Given the description of an element on the screen output the (x, y) to click on. 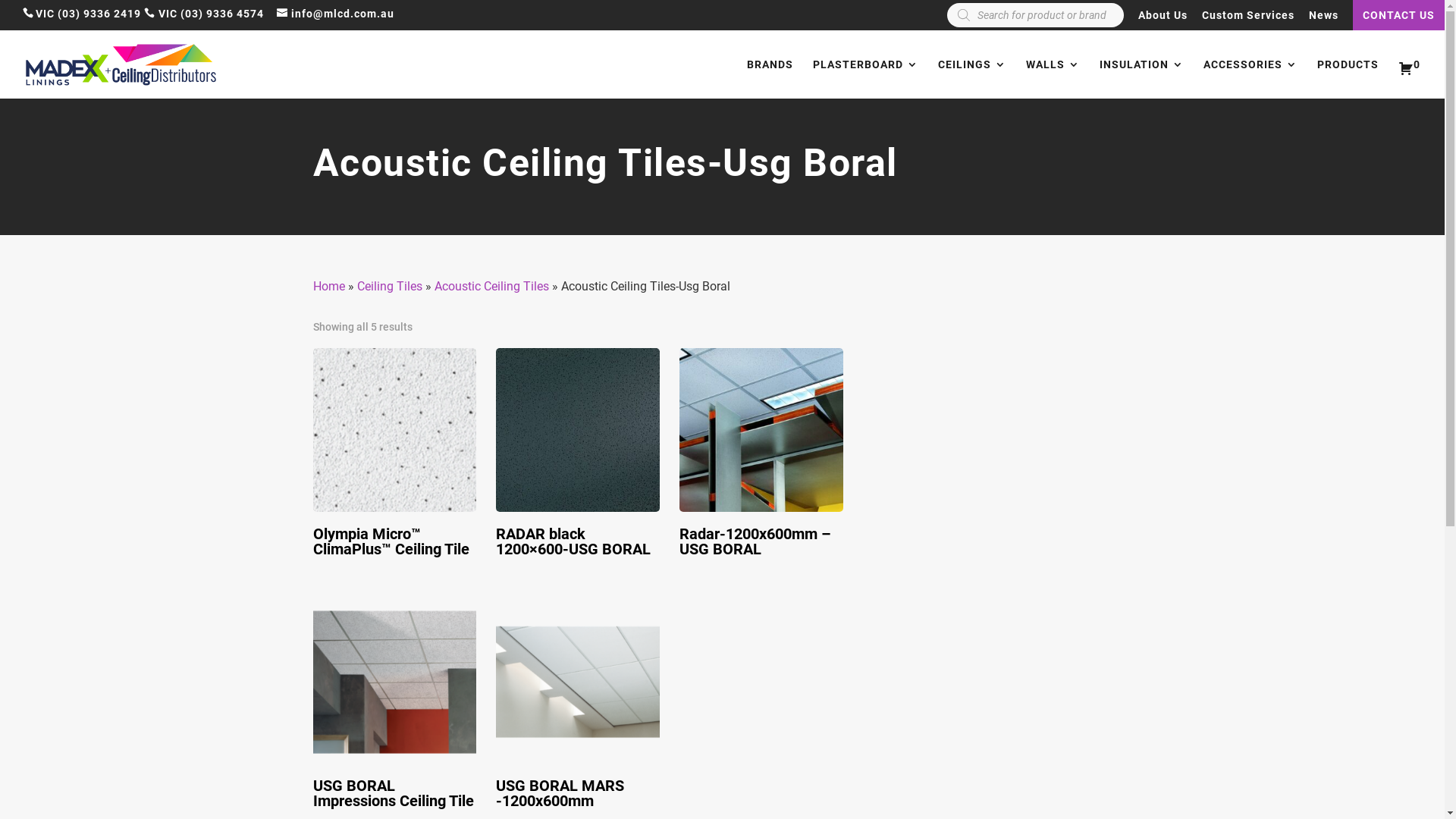
info@mlcd.com.au Element type: text (335, 13)
VIC (03) 9336 2419 Element type: text (88, 13)
WALLS Element type: text (1052, 78)
PRODUCTS Element type: text (1347, 78)
Acoustic Ceiling Tiles Element type: text (490, 286)
0 Element type: text (1409, 78)
News Element type: text (1323, 18)
USG BORAL MARS -1200x600mm Element type: text (576, 707)
BRANDS Element type: text (769, 78)
CONTACT US Element type: text (1398, 15)
Custom Services Element type: text (1247, 18)
PLASTERBOARD Element type: text (865, 78)
VIC (03) 9336 4574 Element type: text (210, 13)
About Us Element type: text (1162, 18)
ACCESSORIES Element type: text (1250, 78)
INSULATION Element type: text (1141, 78)
USG BORAL Impressions Ceiling Tile Element type: text (393, 707)
CEILINGS Element type: text (972, 78)
Ceiling Tiles Element type: text (388, 286)
Home Element type: text (328, 286)
